Given the description of an element on the screen output the (x, y) to click on. 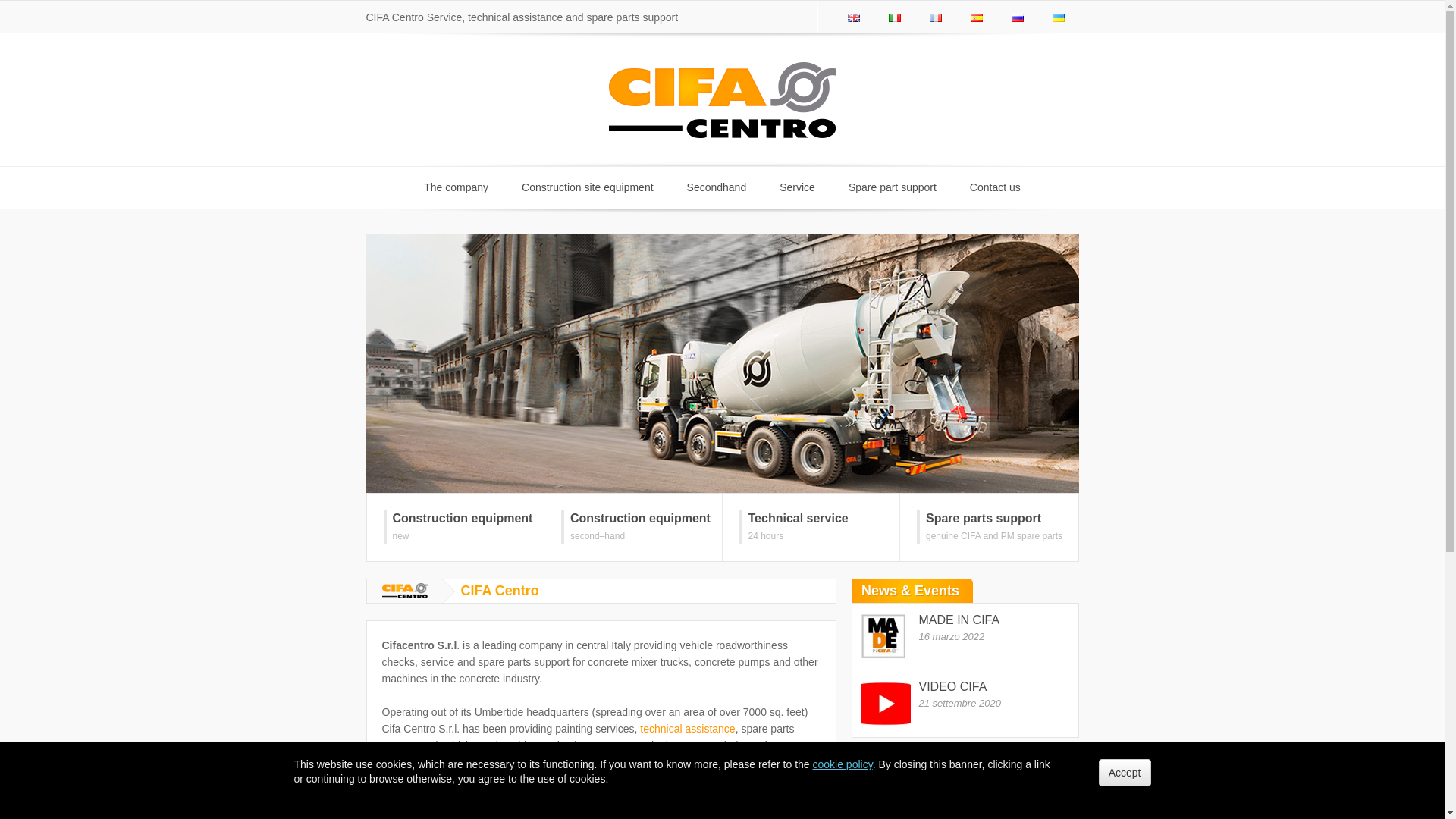
Spare part support (892, 187)
Service (811, 527)
Contact us (796, 187)
Spanish (988, 527)
Construction site equipment (994, 187)
technical assistance (964, 636)
French (975, 17)
Italian (587, 187)
Russian (964, 703)
Secondhand (687, 728)
Ukrainian (935, 17)
